Given the description of an element on the screen output the (x, y) to click on. 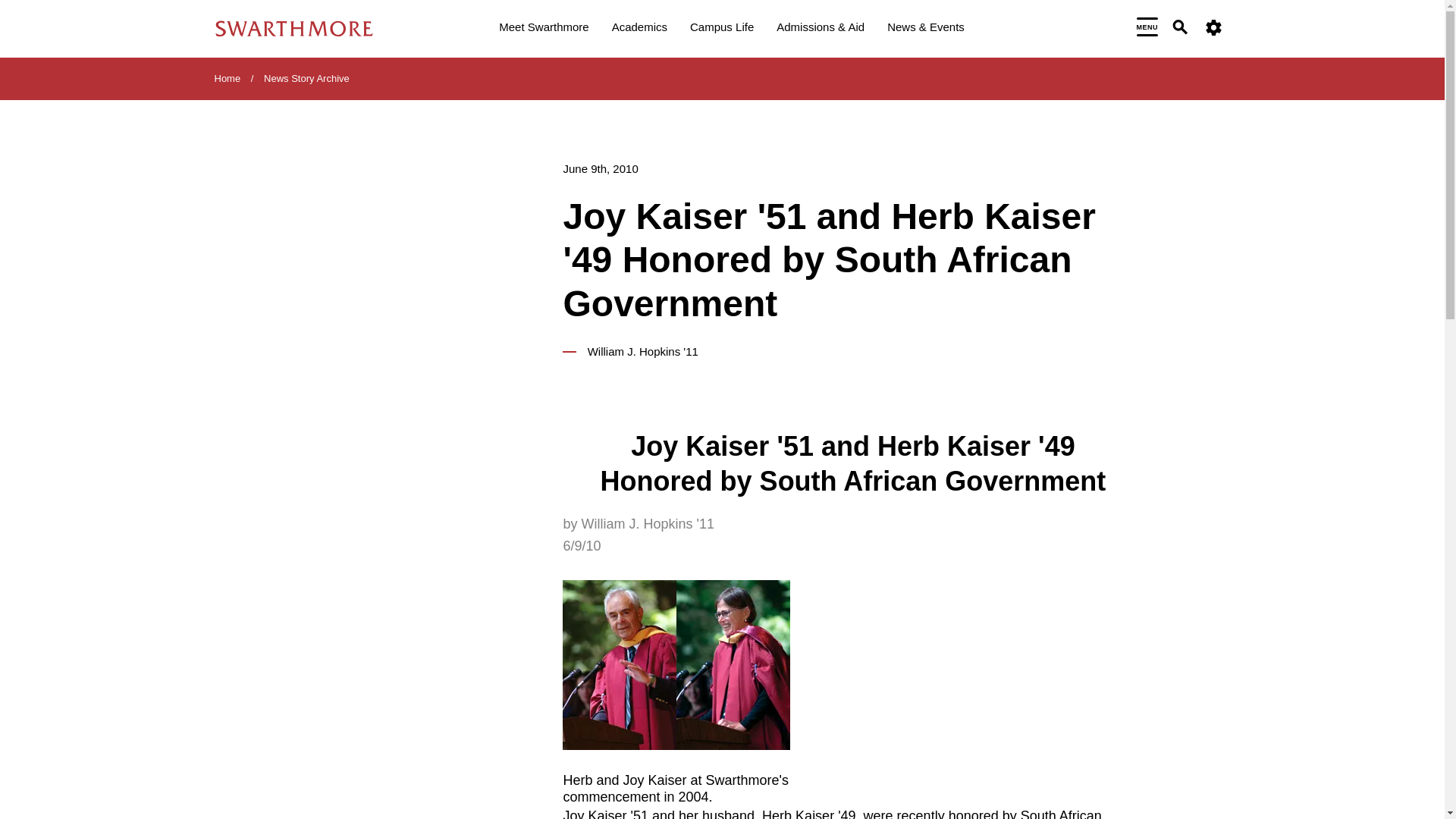
Campus Life (722, 28)
Academics (638, 28)
Meet Swarthmore (543, 28)
